Given the description of an element on the screen output the (x, y) to click on. 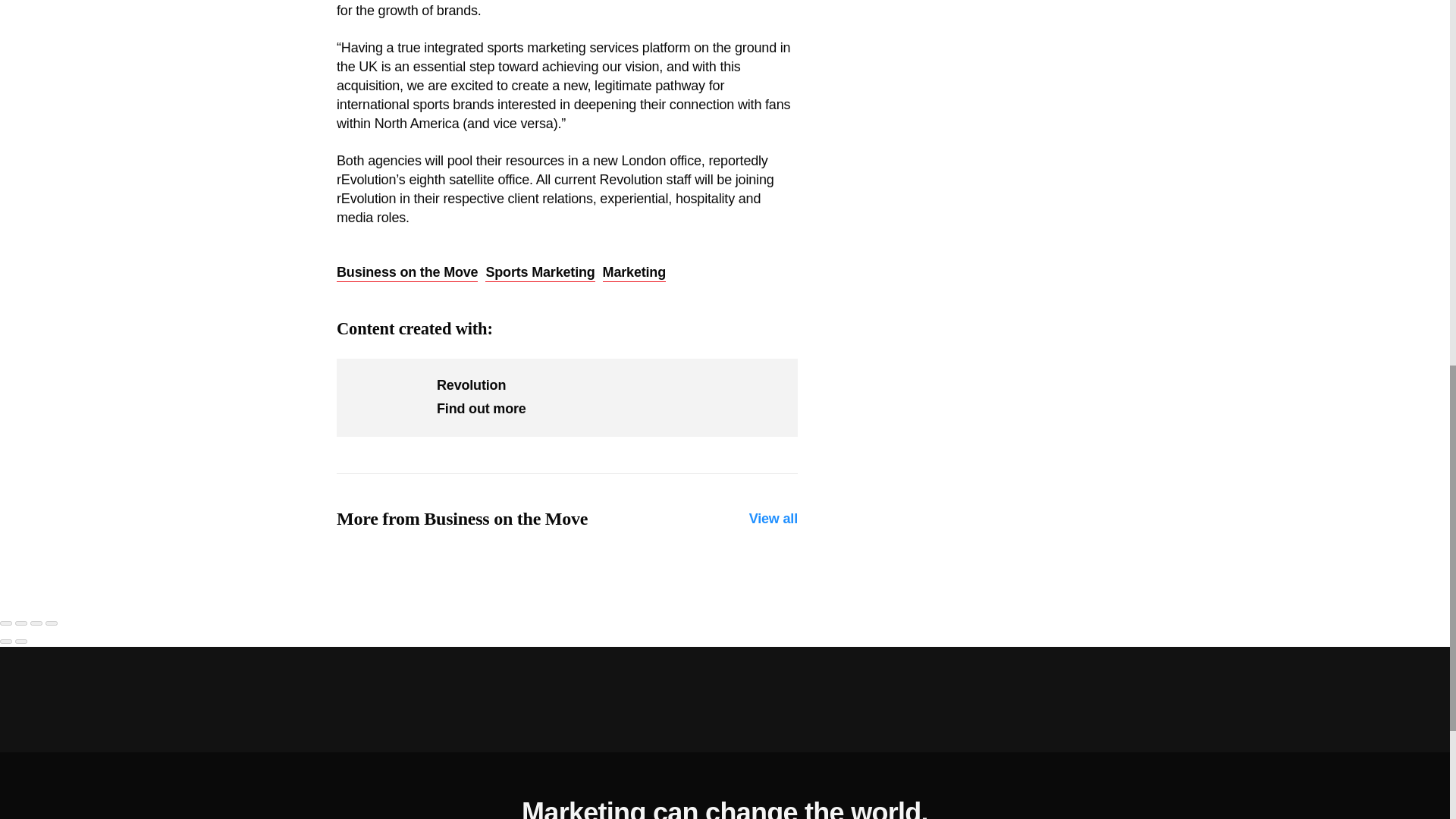
Toggle fullscreen (36, 622)
Business on the Move (406, 272)
View all (773, 518)
Sports Marketing (539, 272)
Share (20, 622)
Marketing (633, 272)
Find out more (480, 408)
